Given the description of an element on the screen output the (x, y) to click on. 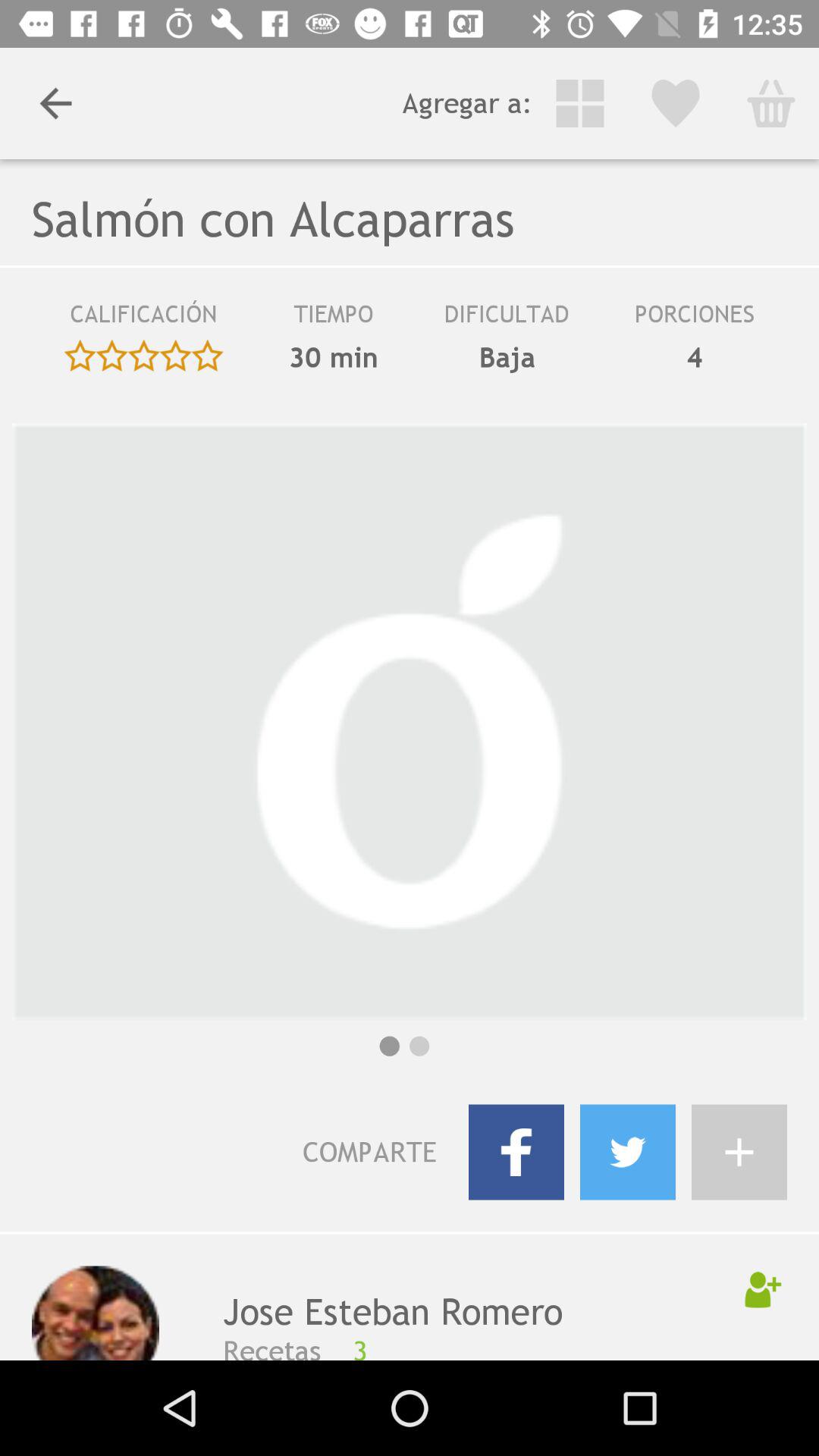
click comparte icon (249, 1152)
